Given the description of an element on the screen output the (x, y) to click on. 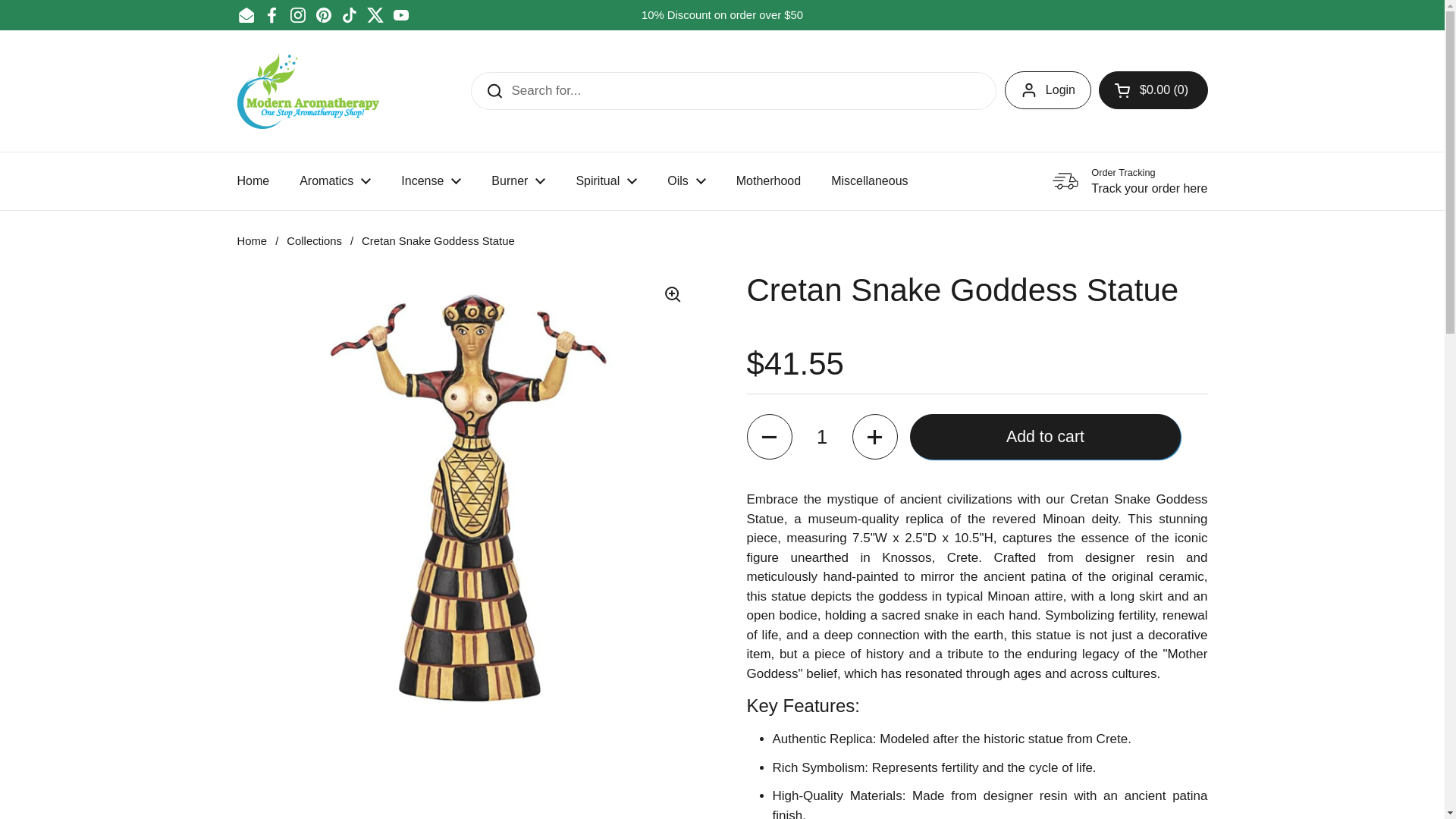
1 (821, 436)
Instagram (296, 14)
Email (244, 14)
Facebook (271, 14)
Modern Aromatherapy (306, 90)
Open cart (1153, 89)
Pinterest (322, 14)
TikTok (348, 14)
YouTube (400, 14)
Aromatics (334, 181)
Login (1047, 89)
Home (252, 181)
Twitter (374, 14)
Aromatics (334, 181)
Home (252, 181)
